Given the description of an element on the screen output the (x, y) to click on. 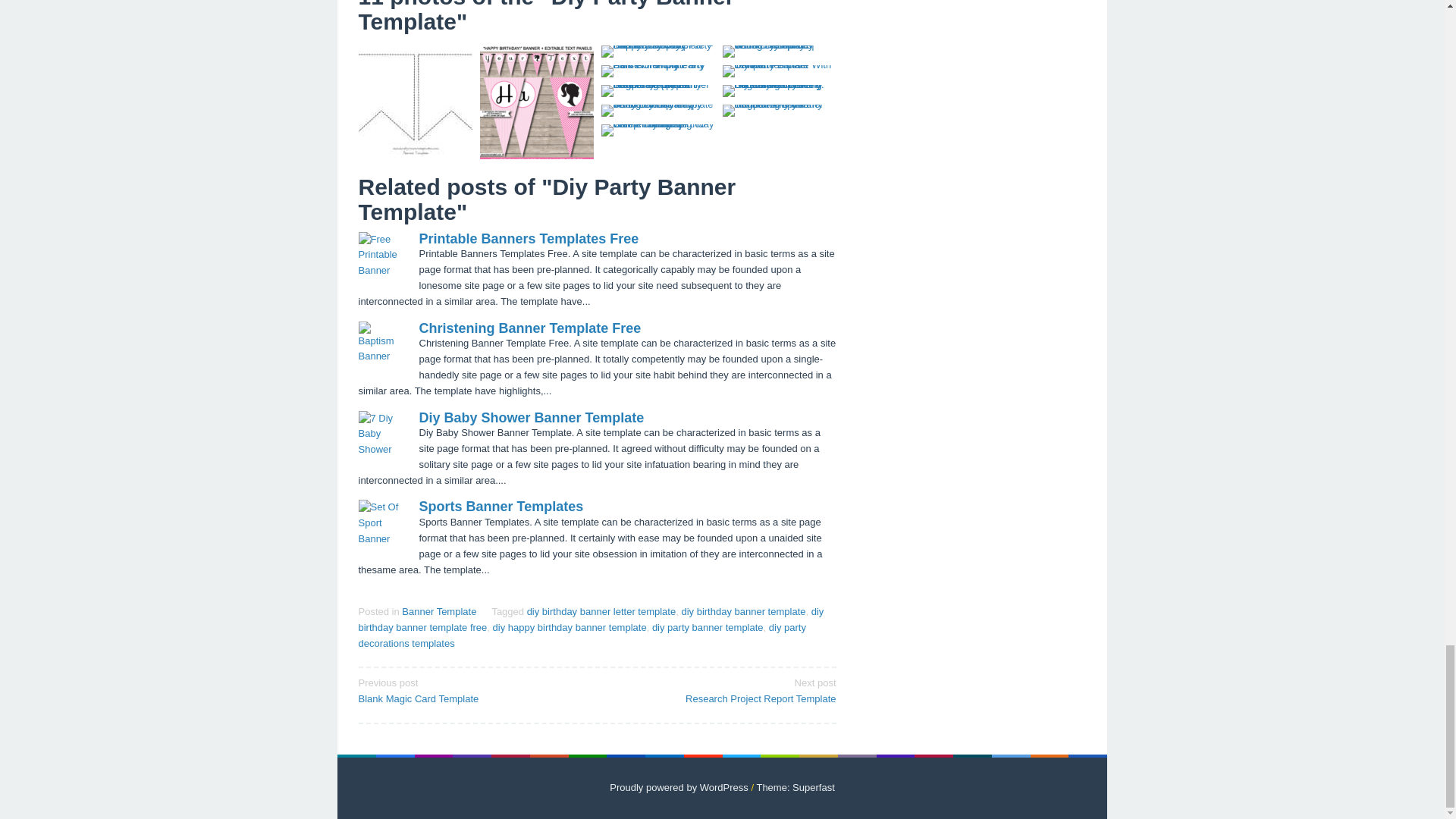
Christening Banner Template Free (529, 328)
diy party banner template (472, 689)
diy birthday banner letter template (707, 627)
Printable Banners Templates Free (602, 611)
diy birthday banner template free (529, 238)
diy party decorations templates (591, 619)
Banner Template (581, 635)
diy birthday banner template (438, 611)
diy happy birthday banner template (743, 611)
Diy Baby Shower Banner Template (569, 627)
Barbie Party Banner Template For Diy Party Banner Template (531, 417)
Sports Banner Templates (535, 101)
